Given the description of an element on the screen output the (x, y) to click on. 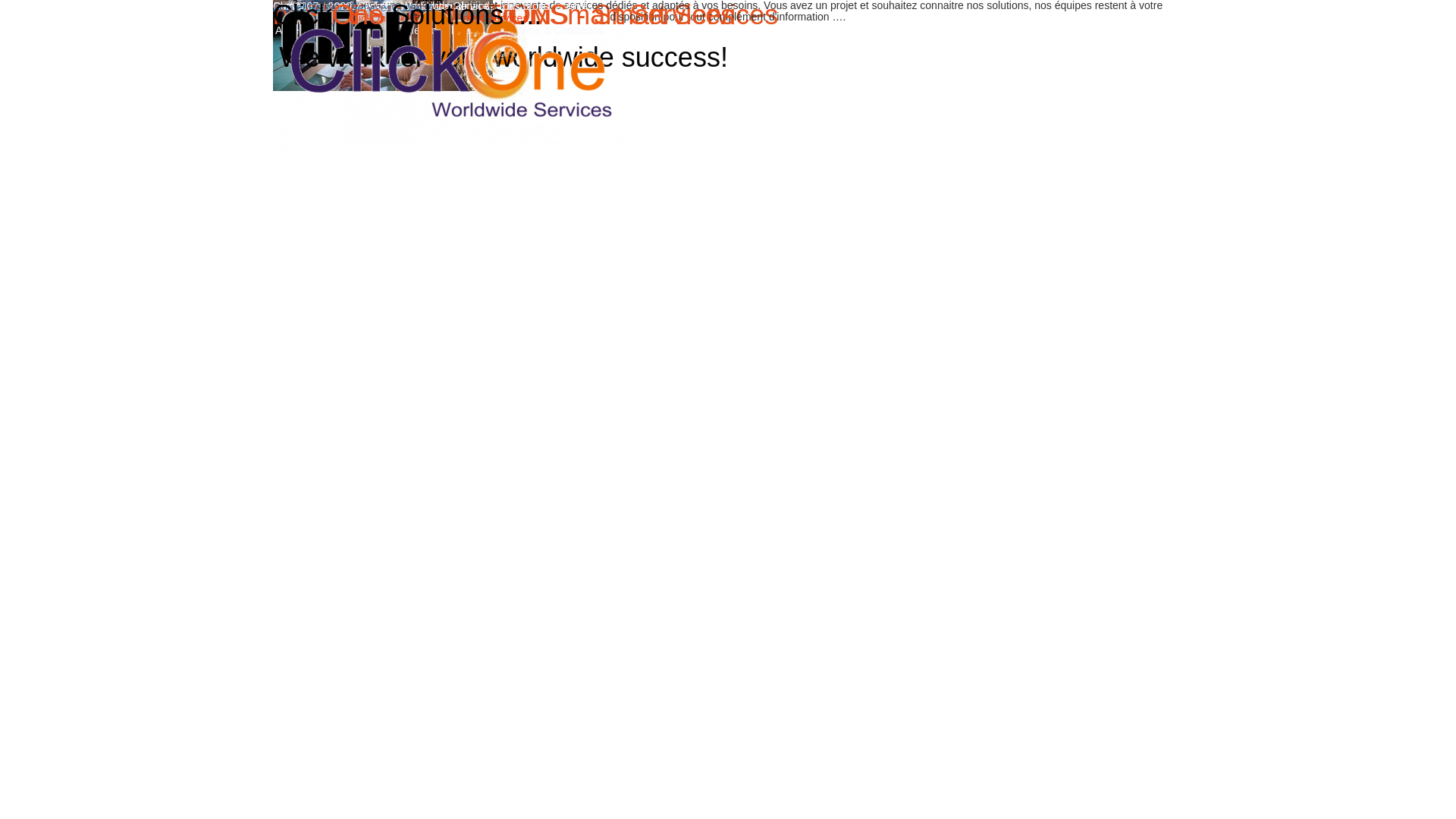
Services Element type: text (371, 7)
Contacts Element type: text (412, 7)
Accueil Element type: text (290, 7)
Terms & Conditions Element type: text (555, 30)
Solutions Element type: text (329, 7)
 Acceptable Use Policy  Element type: text (328, 30)
